Given the description of an element on the screen output the (x, y) to click on. 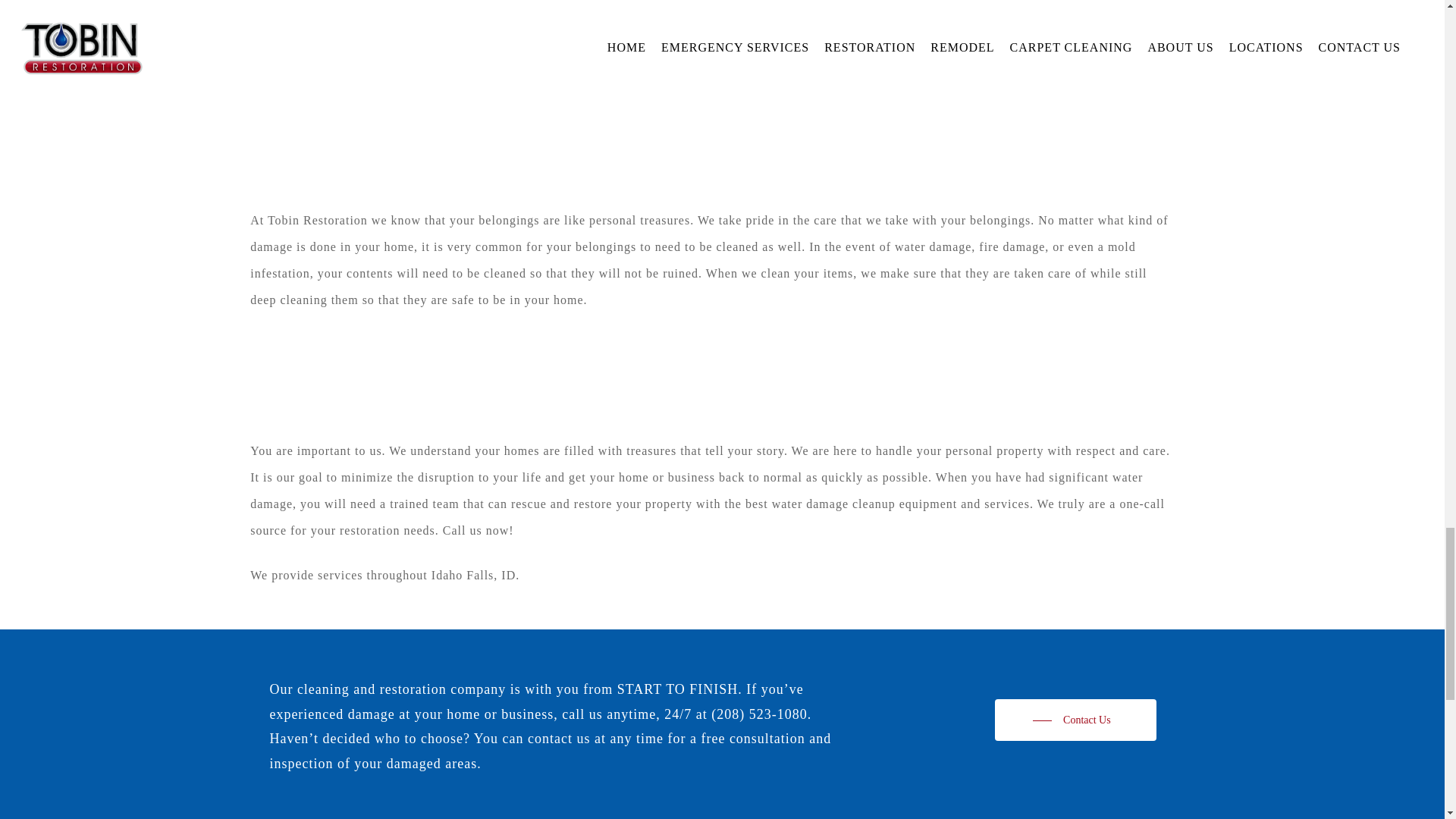
Contact Us (1075, 720)
